Given the description of an element on the screen output the (x, y) to click on. 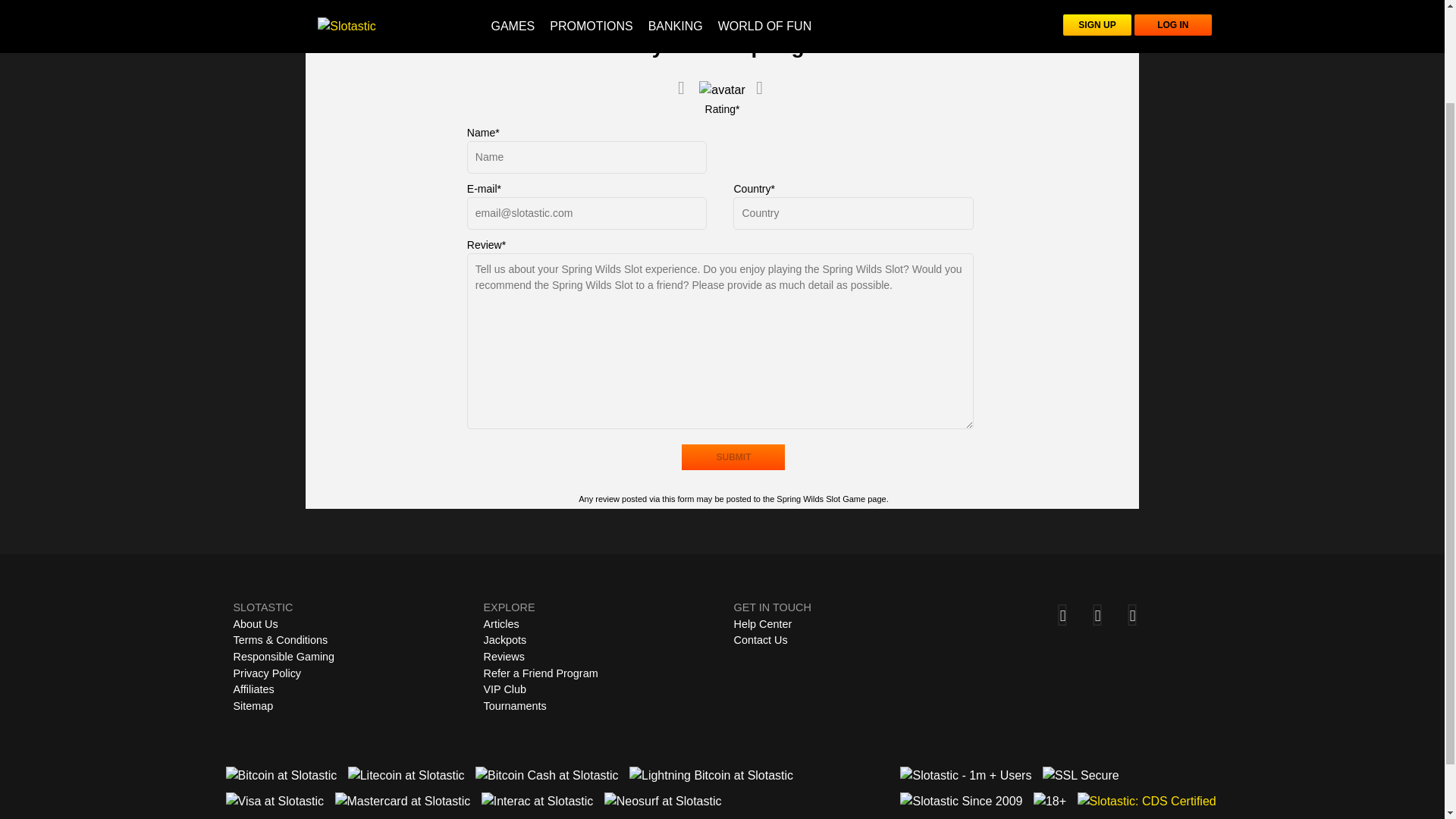
Jackpots (505, 639)
SUBMIT (732, 457)
Interac at Slotastic (537, 801)
About Us (255, 623)
Refer a Friend Program (540, 673)
Neosurf at Slotastic (663, 801)
Mastercard at Slotastic (402, 801)
Privacy Policy (266, 673)
Articles (501, 623)
Tournaments (515, 705)
Bitcoin Cash at Slotastic (547, 775)
Slotastic Since 2009 (960, 801)
Help Center (762, 623)
Lightning Bitcoin at Slotastic (710, 775)
VIP Club (505, 689)
